Given the description of an element on the screen output the (x, y) to click on. 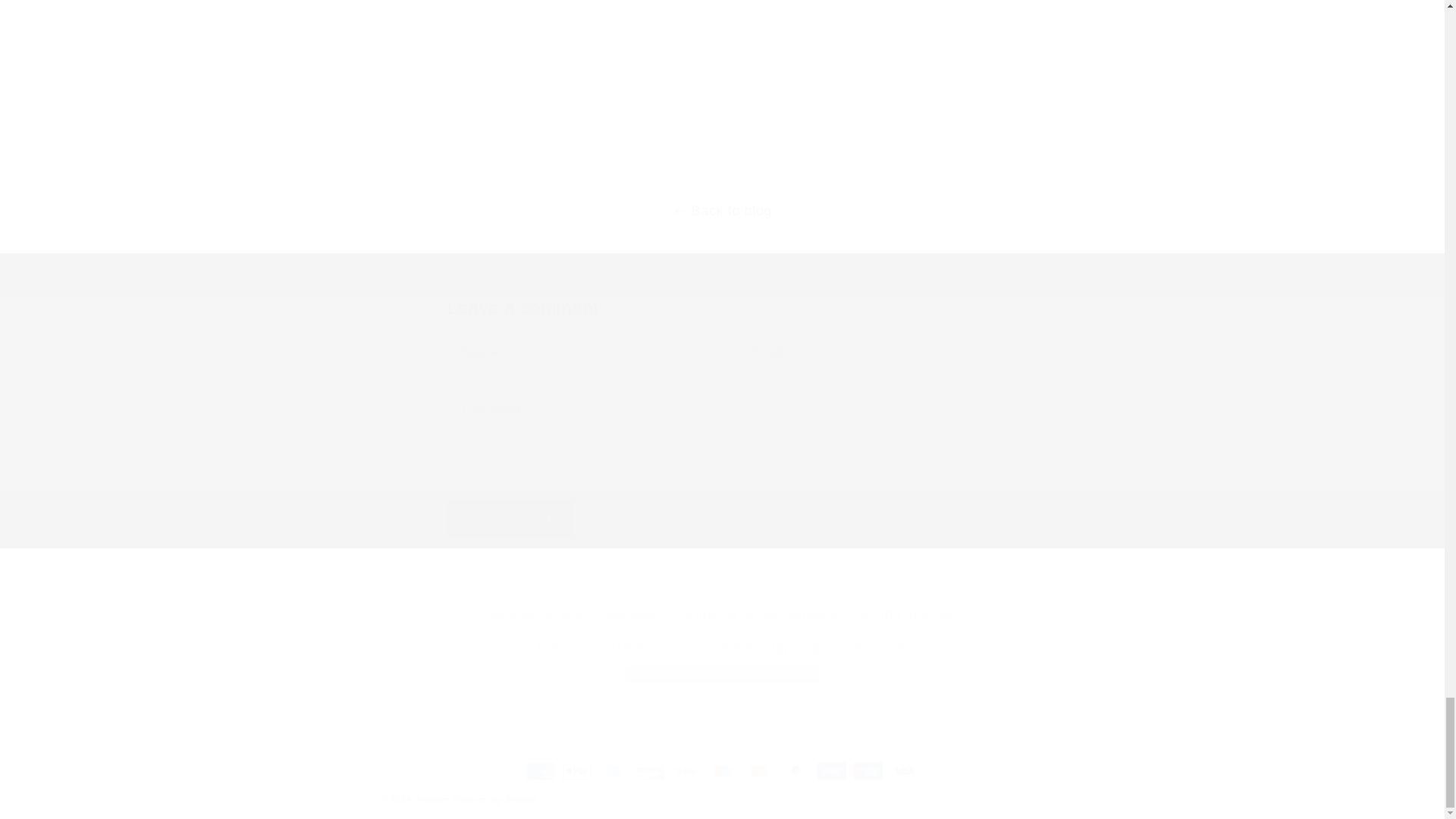
Post comment (510, 518)
Reviber (432, 798)
Powered by Shopify (493, 798)
Post comment (510, 518)
